Given the description of an element on the screen output the (x, y) to click on. 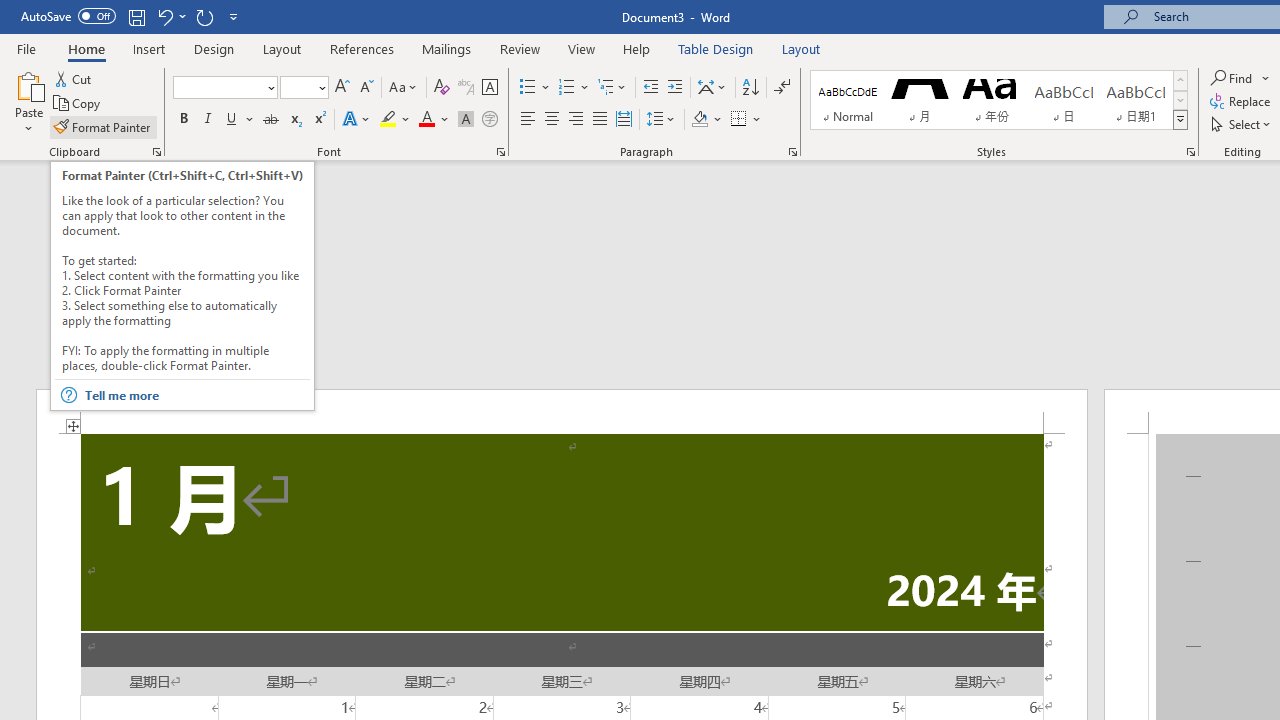
Font... (500, 151)
Font Color (434, 119)
Clear Formatting (442, 87)
Cut (73, 78)
Grow Font (342, 87)
Character Border (489, 87)
Select (1242, 124)
